Given the description of an element on the screen output the (x, y) to click on. 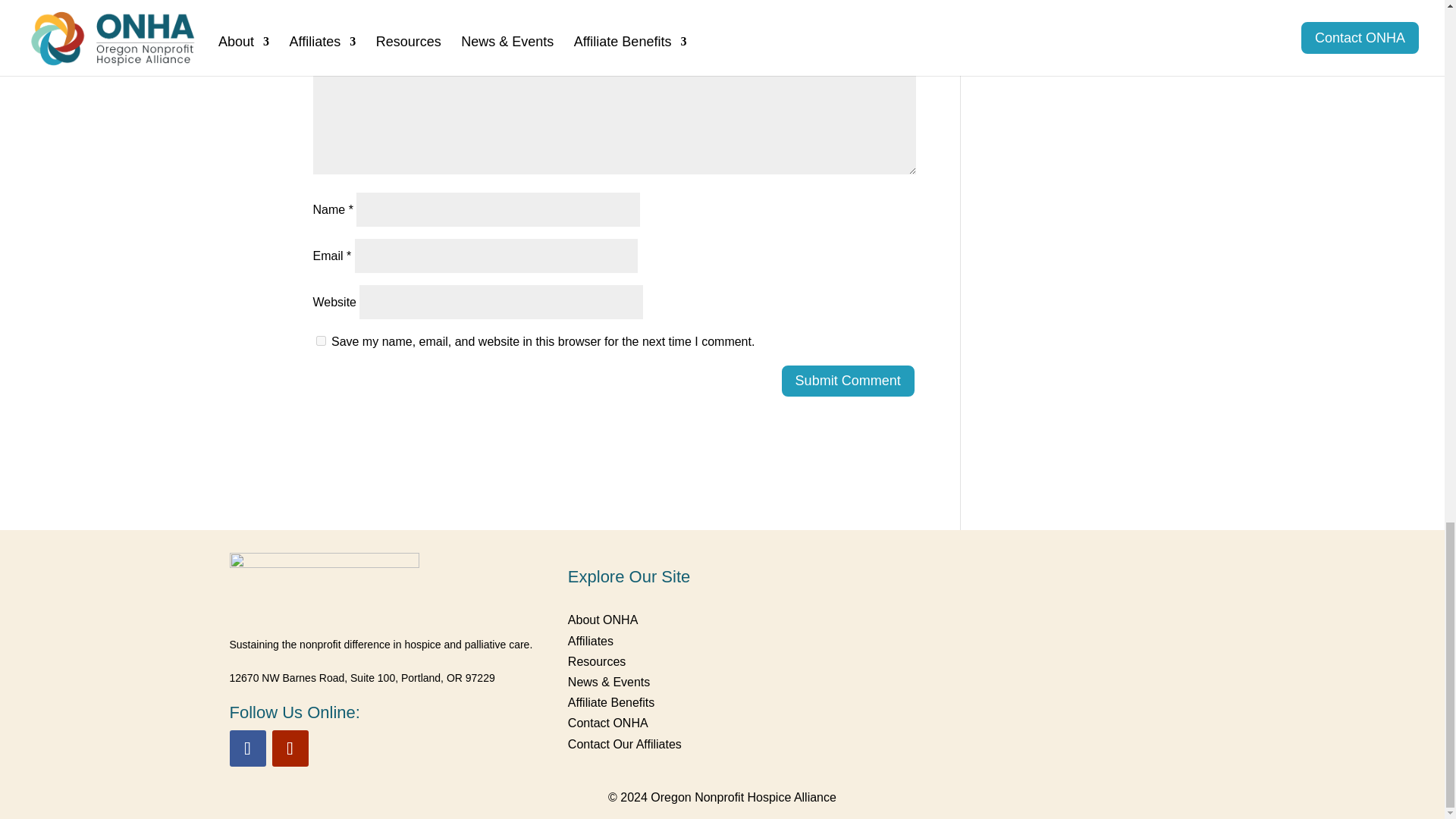
Follow on Youtube (288, 748)
Submit Comment (847, 380)
Follow on Facebook (246, 748)
Affiliate Benefits (610, 702)
Resources (596, 661)
Submit Comment (847, 380)
Contact Our Affiliates (624, 744)
Affiliates (589, 640)
About ONHA (602, 619)
Contact ONHA (607, 722)
